Given the description of an element on the screen output the (x, y) to click on. 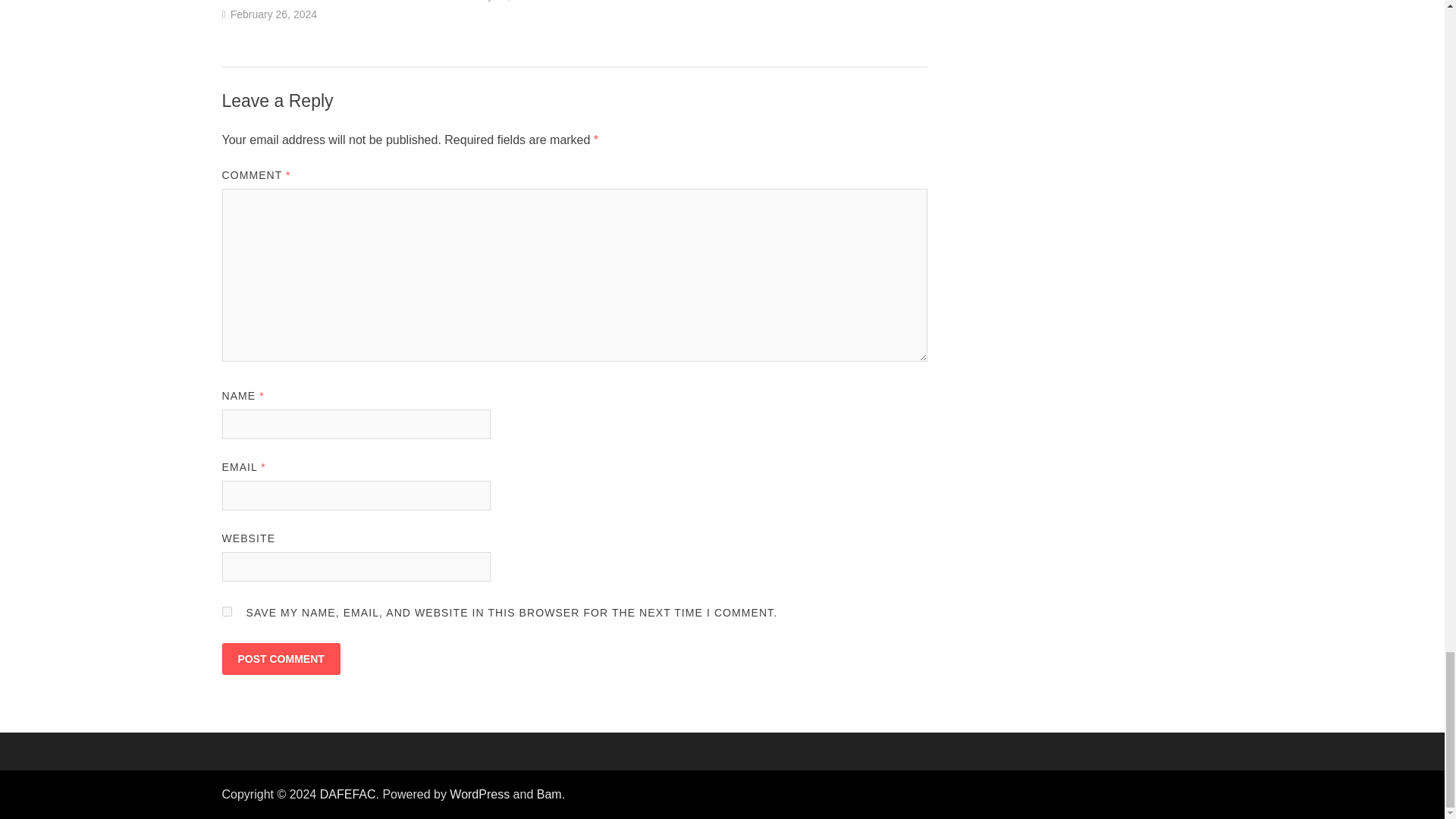
DAFEFAC (347, 793)
yes (226, 611)
Post Comment (280, 658)
May 21, 2024 (505, 0)
February 26, 2024 (273, 14)
